Given the description of an element on the screen output the (x, y) to click on. 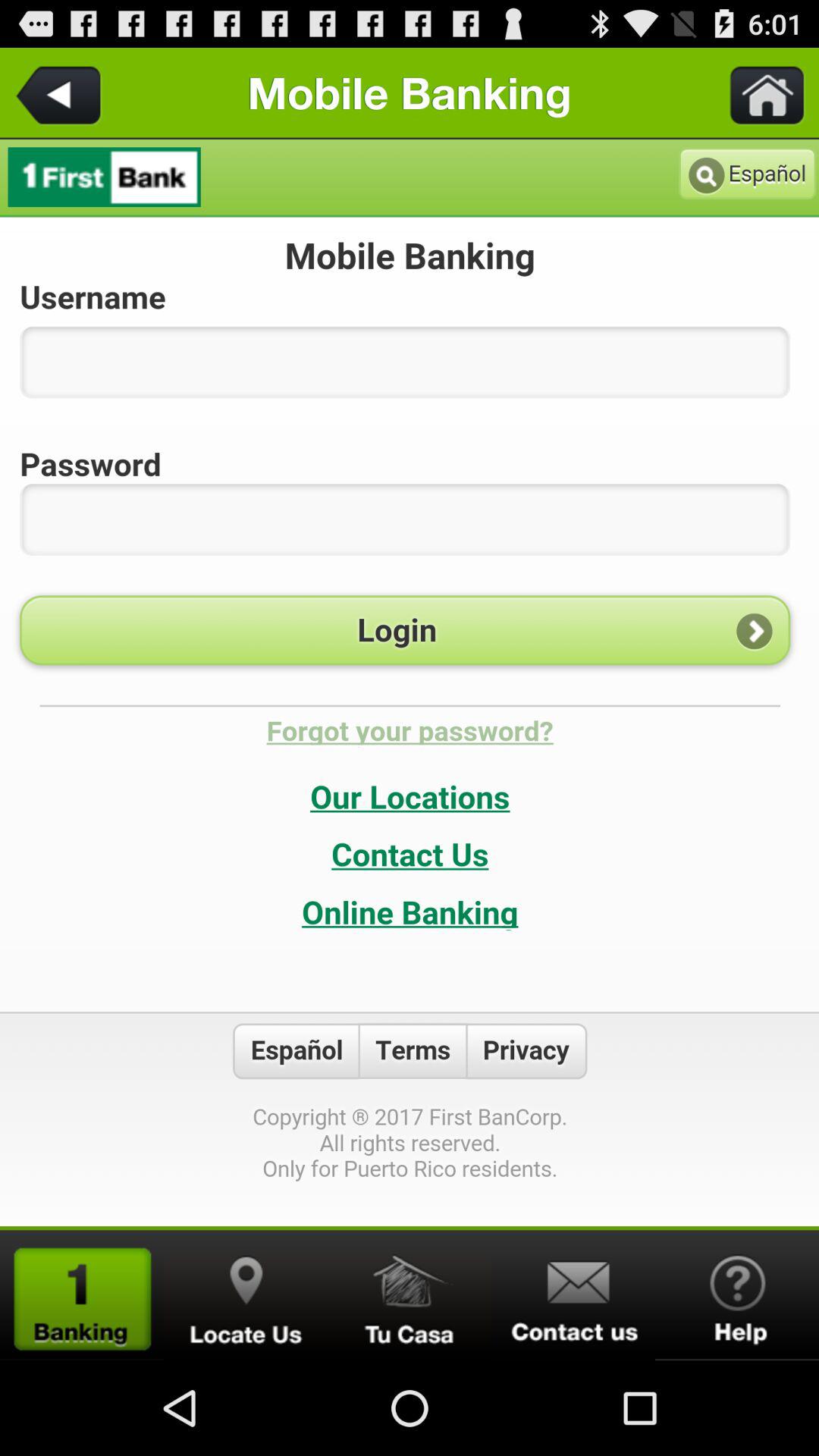
home (757, 92)
